Given the description of an element on the screen output the (x, y) to click on. 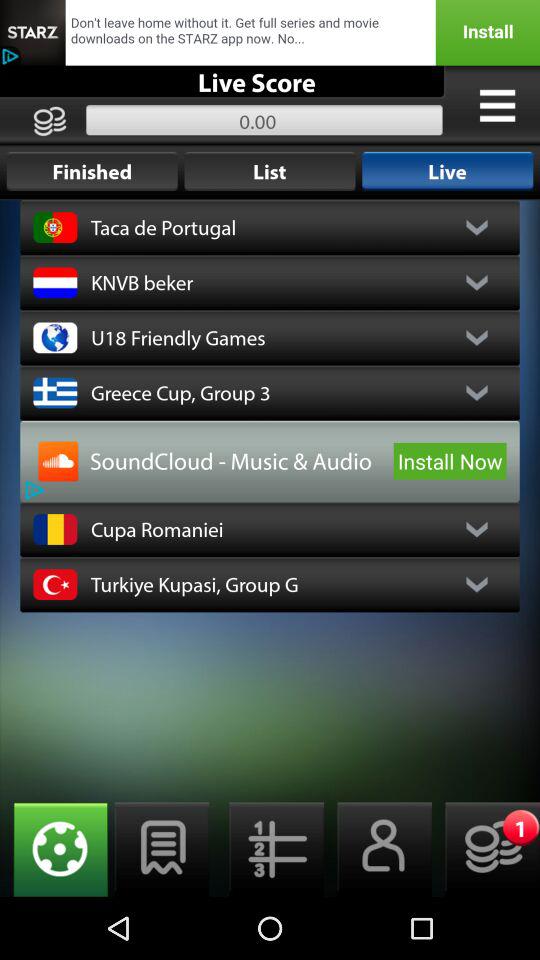
go to settings (54, 849)
